Given the description of an element on the screen output the (x, y) to click on. 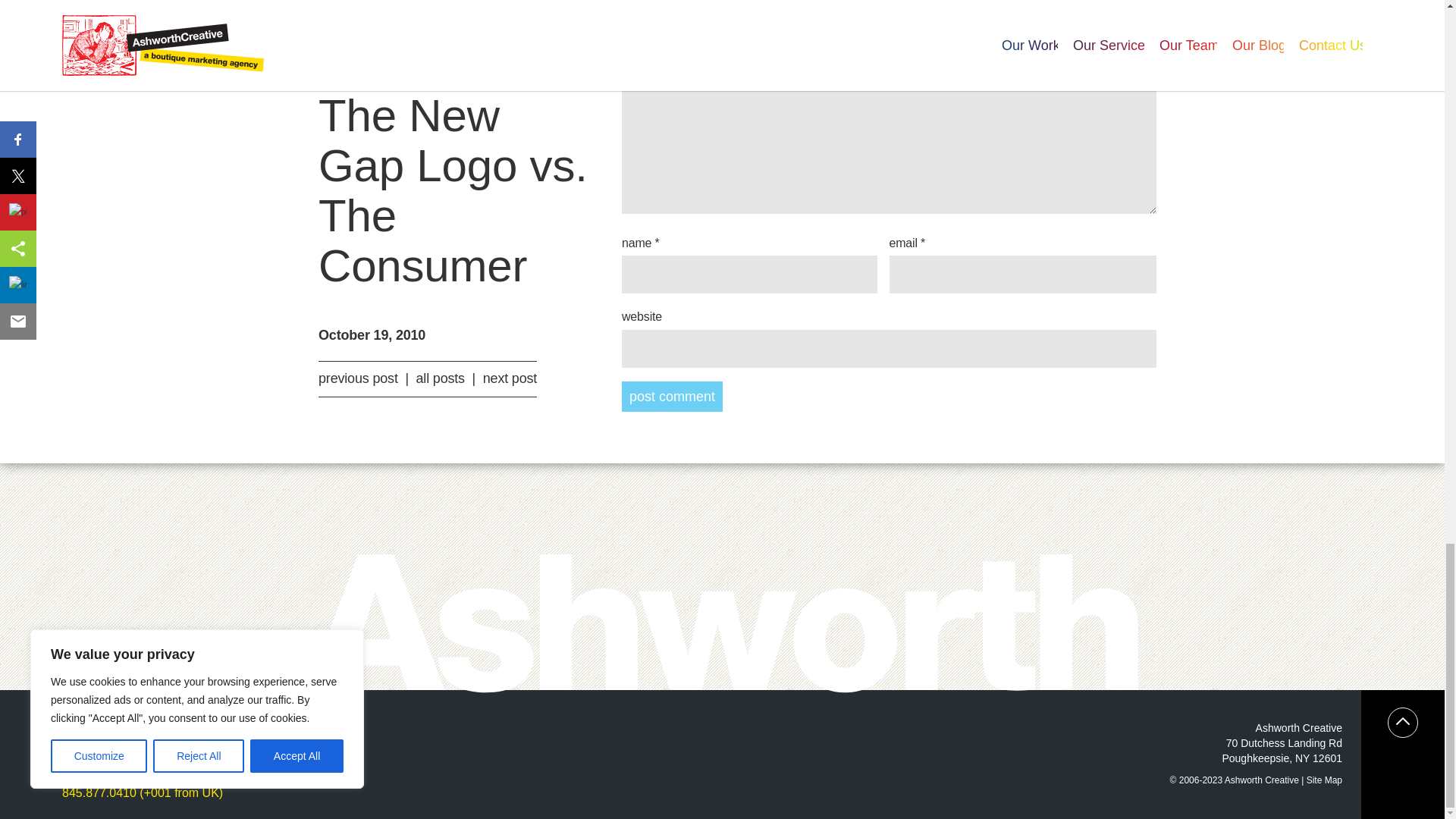
Post Comment (671, 396)
